Given the description of an element on the screen output the (x, y) to click on. 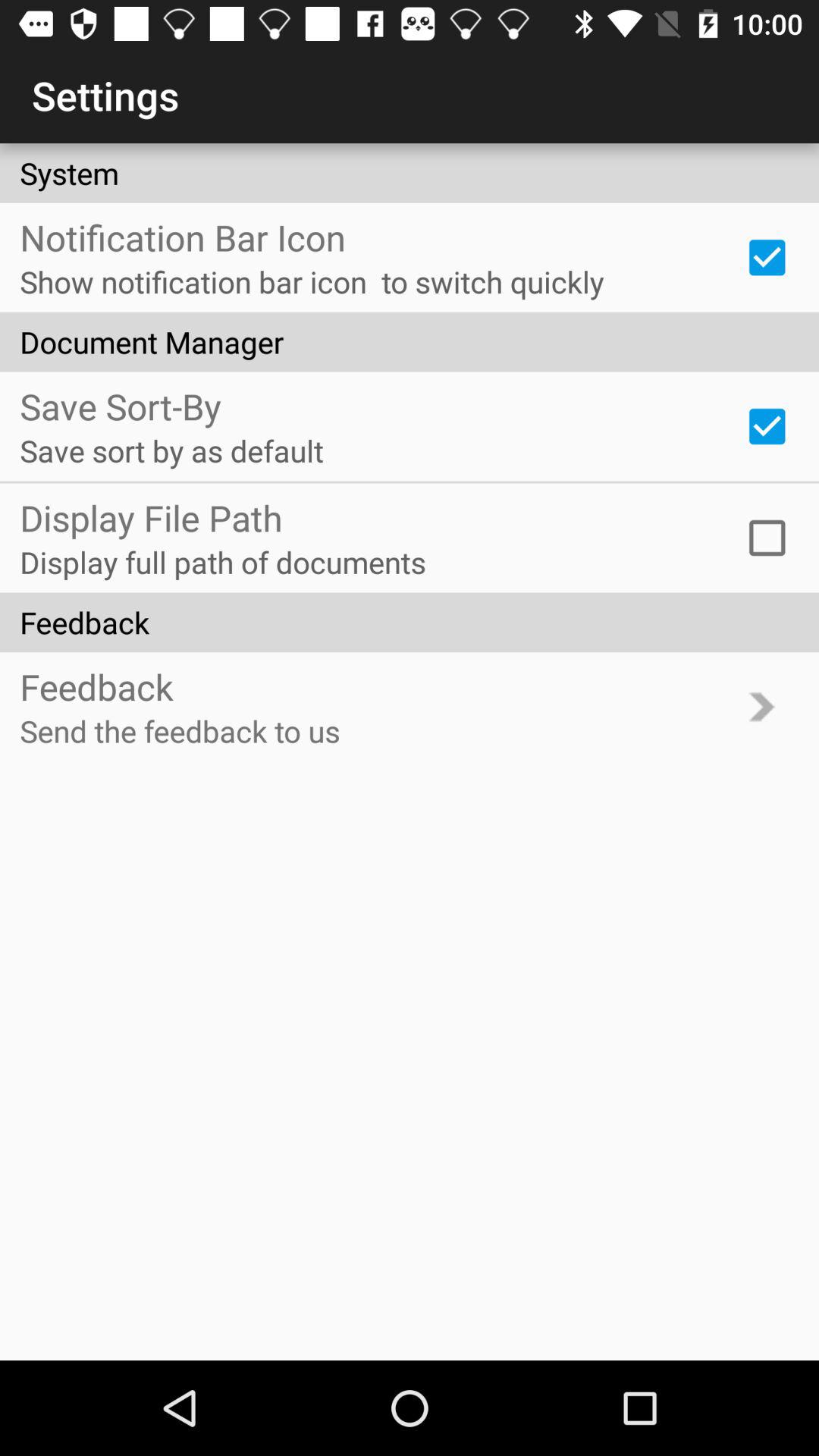
press the item above document manager (767, 257)
